Given the description of an element on the screen output the (x, y) to click on. 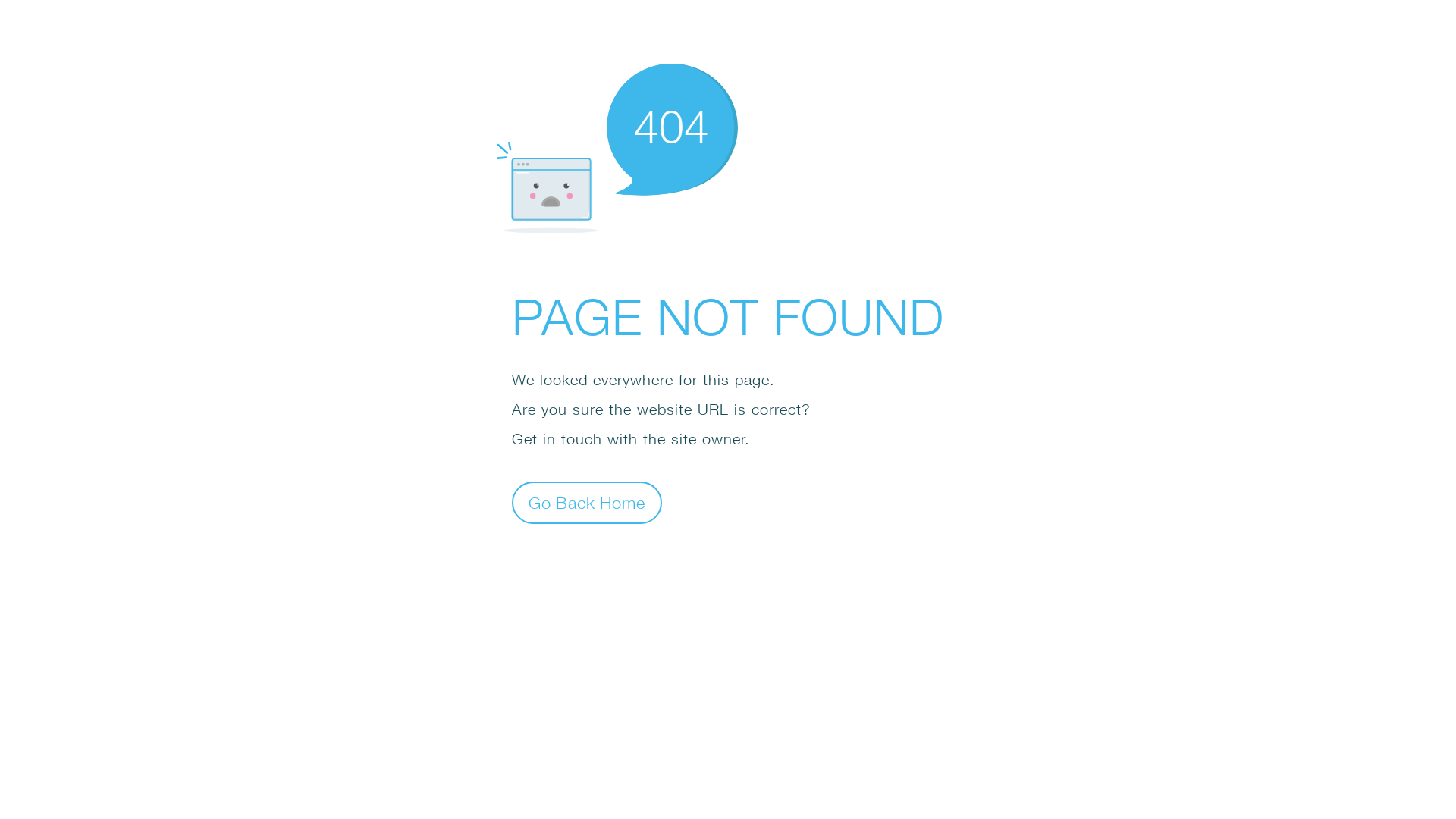
Go Back Home Element type: text (586, 502)
